Given the description of an element on the screen output the (x, y) to click on. 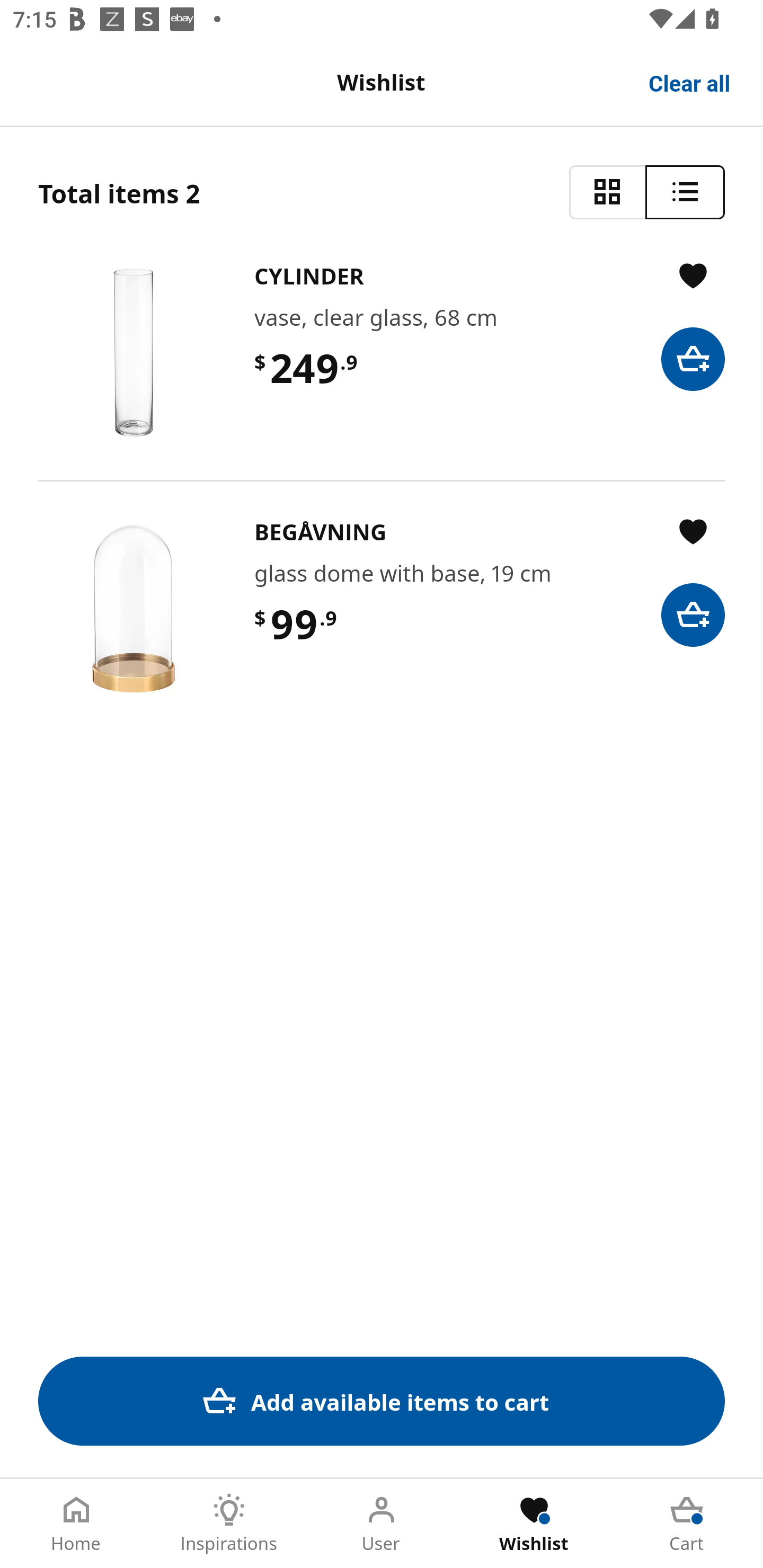
Clear all (689, 81)
Add available items to cart (381, 1400)
Home
Tab 1 of 5 (76, 1522)
Inspirations
Tab 2 of 5 (228, 1522)
User
Tab 3 of 5 (381, 1522)
Wishlist
Tab 4 of 5 (533, 1522)
Cart
Tab 5 of 5 (686, 1522)
